Given the description of an element on the screen output the (x, y) to click on. 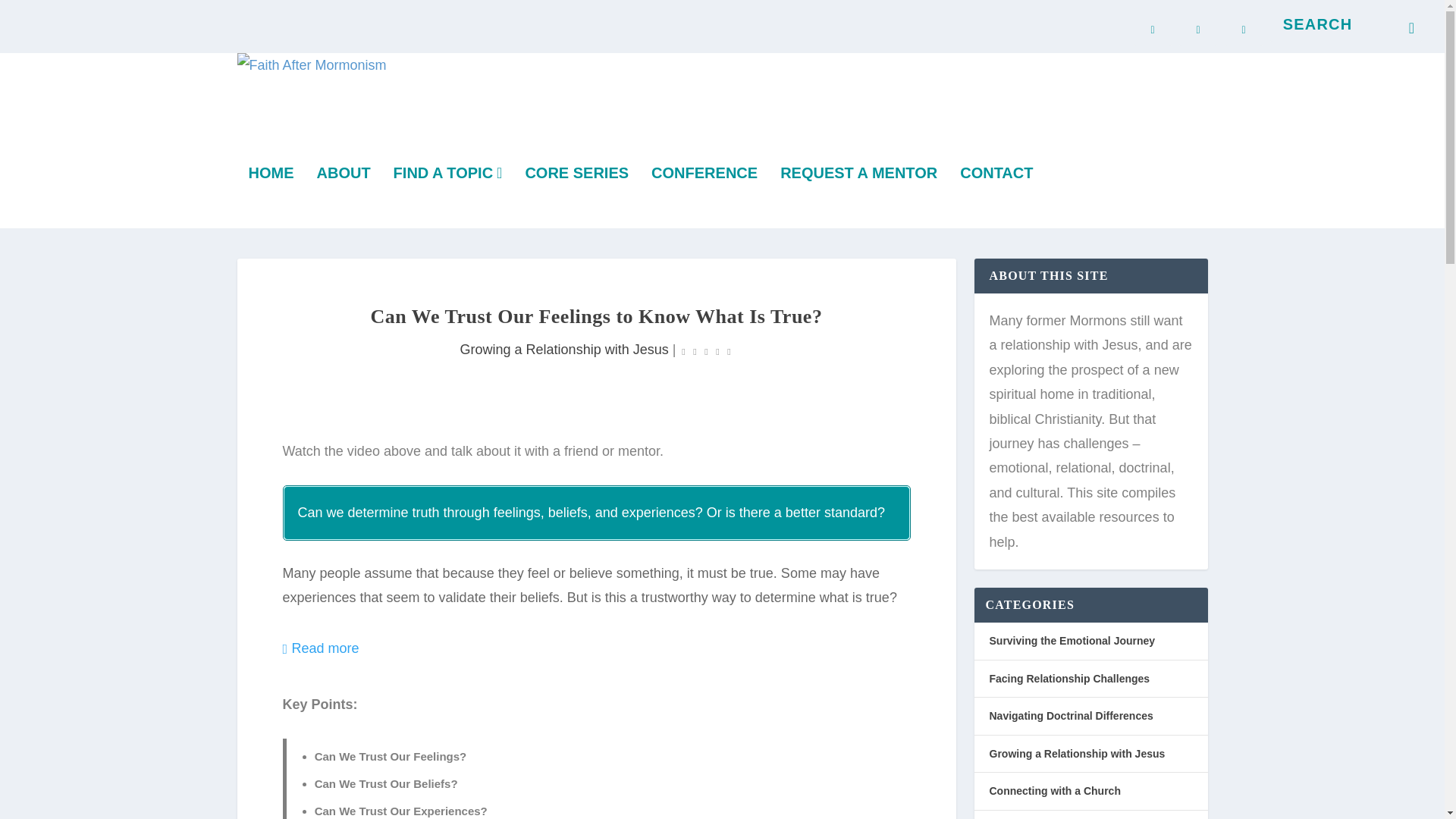
CORE SERIES (576, 197)
Growing a Relationship with Jesus (564, 349)
Search for: (1345, 24)
CONFERENCE (703, 197)
CONTACT (995, 197)
Rating: 0.00 (705, 350)
Read more (320, 648)
FIND A TOPIC (447, 197)
REQUEST A MENTOR (858, 197)
